Given the description of an element on the screen output the (x, y) to click on. 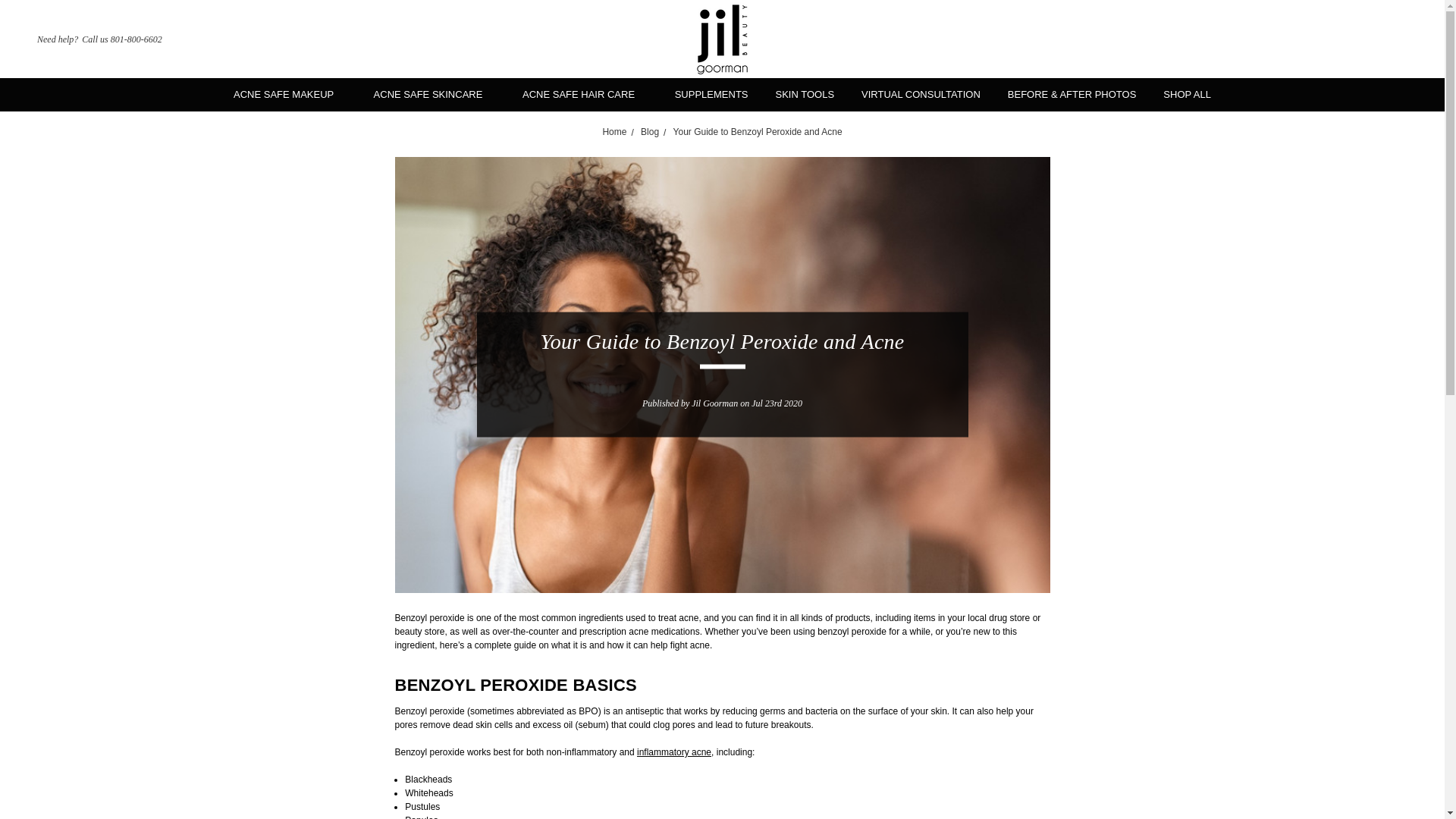
Need help?Call us 801-800-6602 (90, 38)
ACNE SAFE SKINCARE (433, 94)
ACNE SAFE MAKEUP (289, 94)
ACNE SAFE HAIR CARE (584, 94)
